Given the description of an element on the screen output the (x, y) to click on. 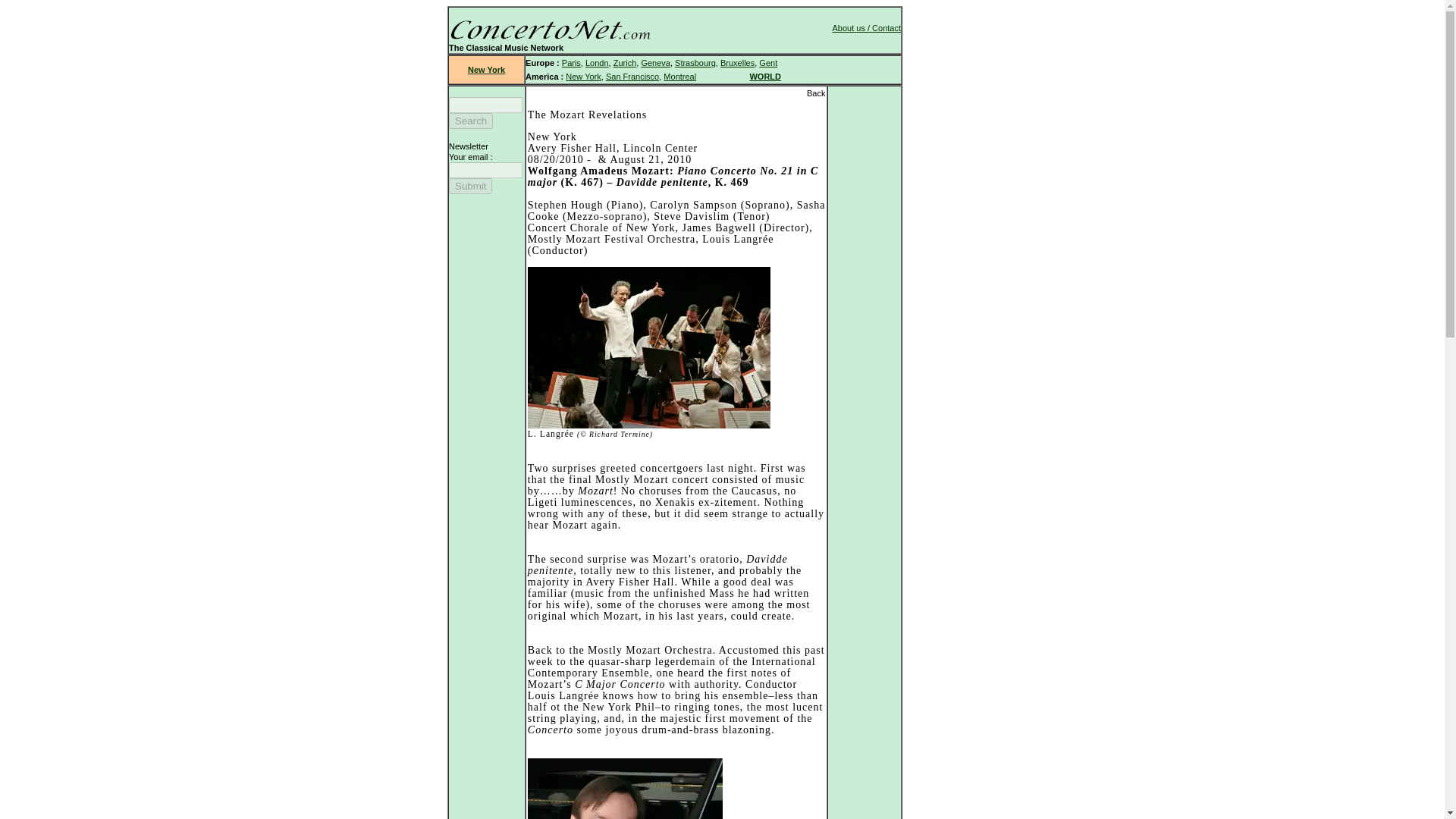
Back (815, 92)
Search (470, 120)
Submit (470, 186)
New York (582, 76)
San Francisco (632, 76)
Gent (767, 62)
New York (486, 69)
WORLD (764, 76)
Paris (571, 62)
Londn (596, 62)
